Given the description of an element on the screen output the (x, y) to click on. 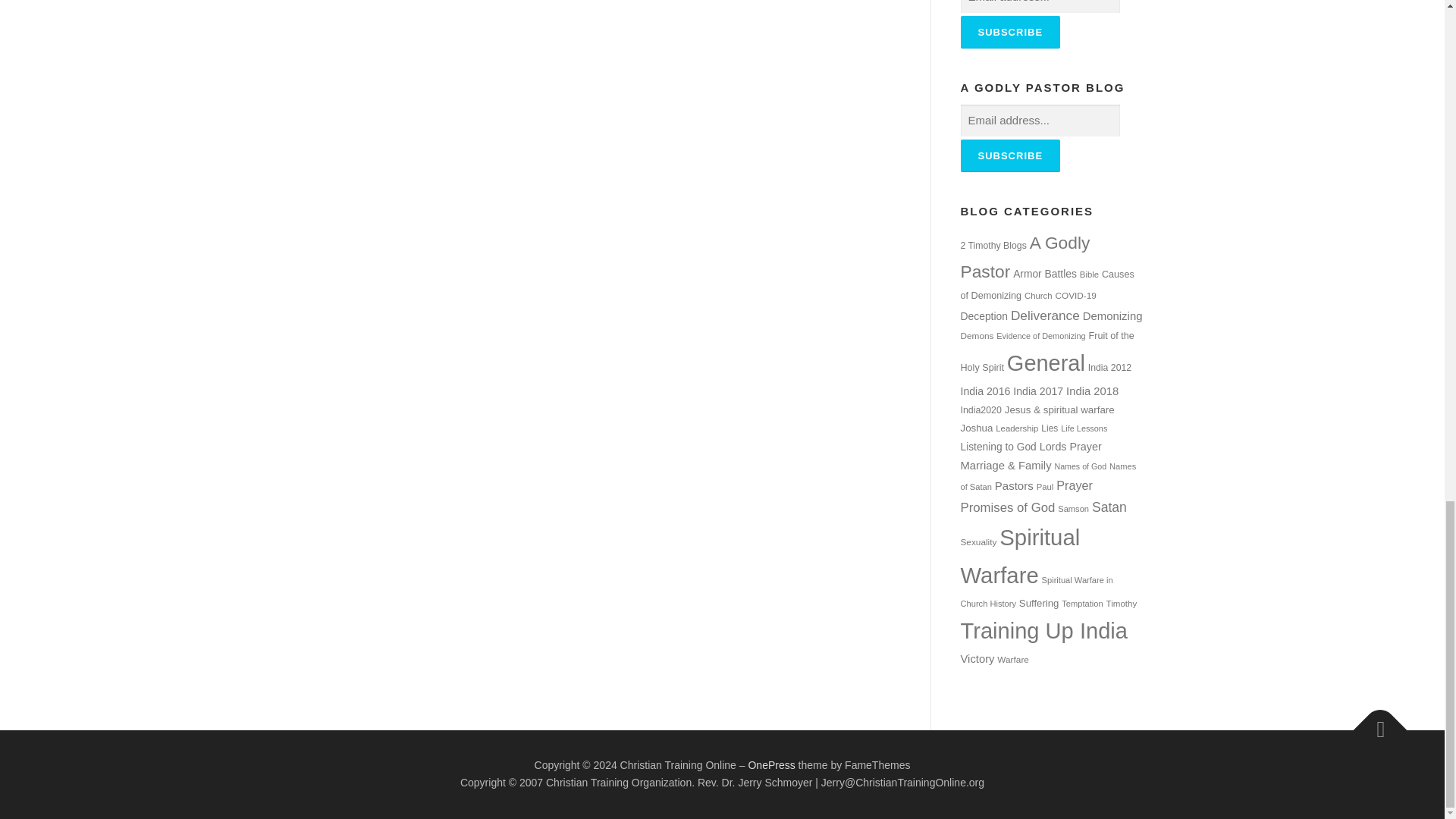
Subscribe (1009, 31)
Subscribe (1009, 155)
Back To Top (1372, 721)
